Given the description of an element on the screen output the (x, y) to click on. 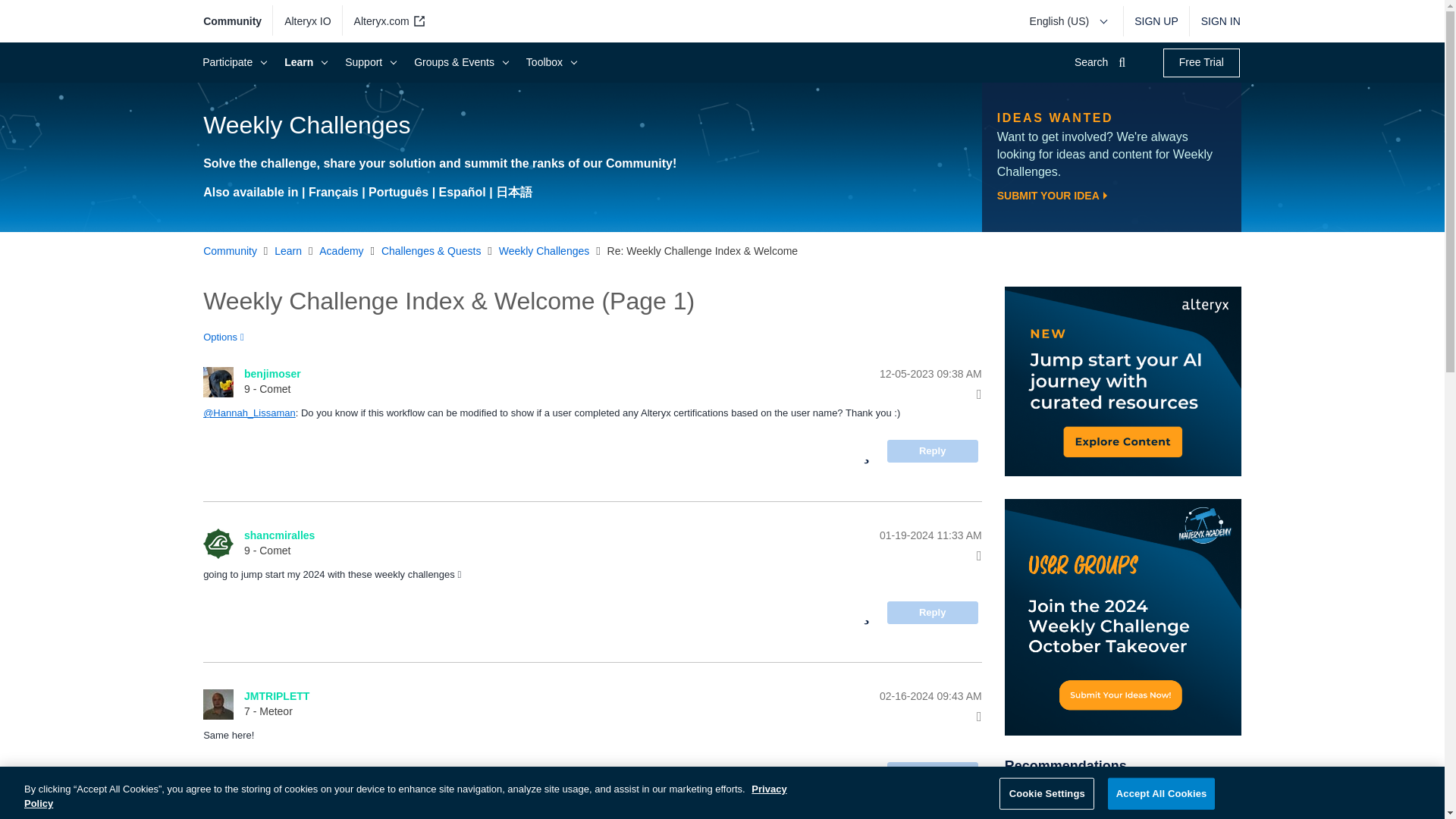
Posted on (862, 374)
SIGN UP (1155, 21)
Participate (232, 62)
Posted on (862, 535)
alteryx.com (386, 20)
Show option menu (228, 337)
Community (238, 21)
Learn (303, 62)
Alteryx IO (307, 21)
